Given the description of an element on the screen output the (x, y) to click on. 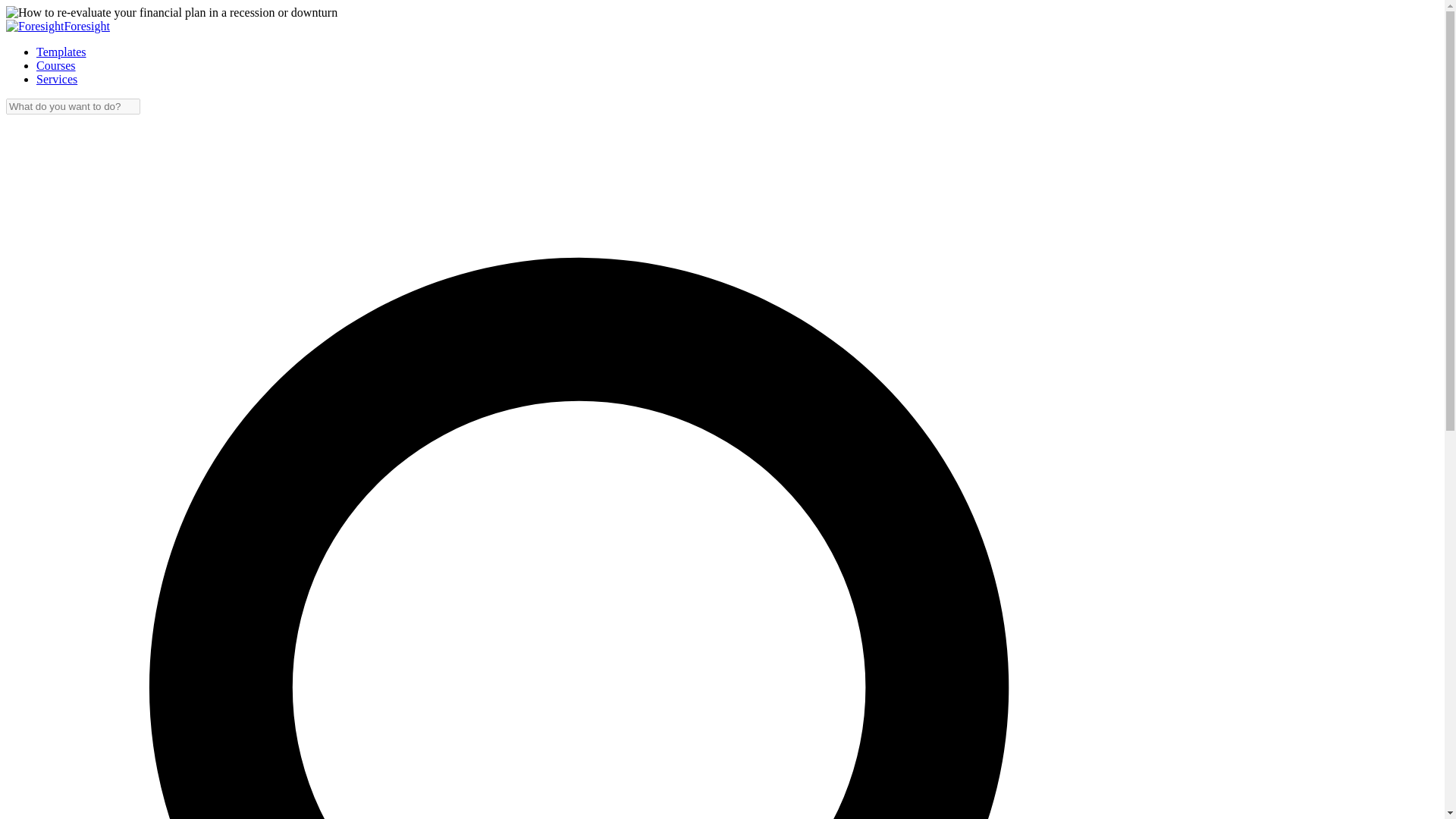
Services (56, 78)
Templates (60, 51)
Foresight (86, 25)
Courses (55, 65)
